Given the description of an element on the screen output the (x, y) to click on. 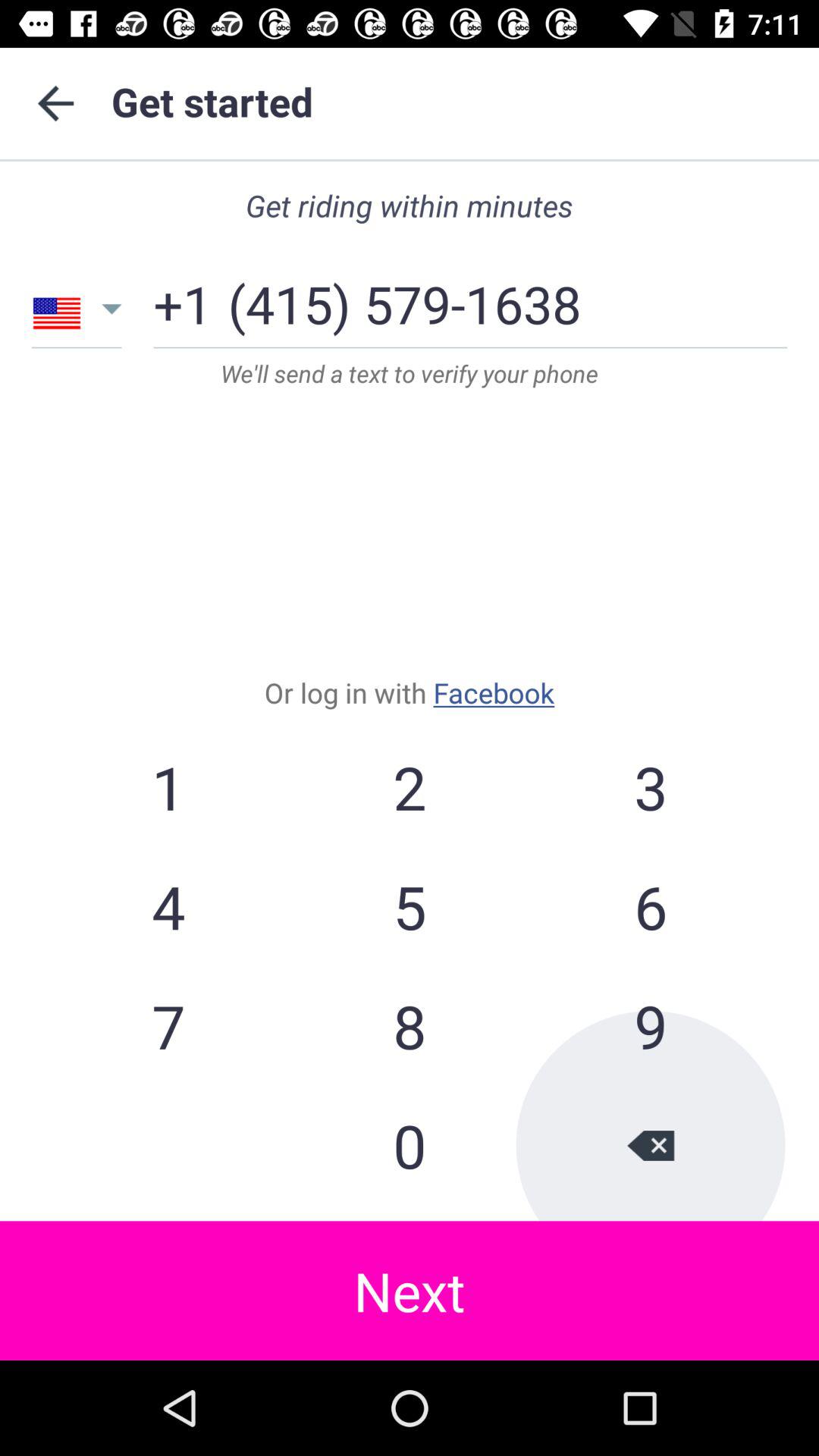
turn off the item to the right of the 2 (650, 786)
